Given the description of an element on the screen output the (x, y) to click on. 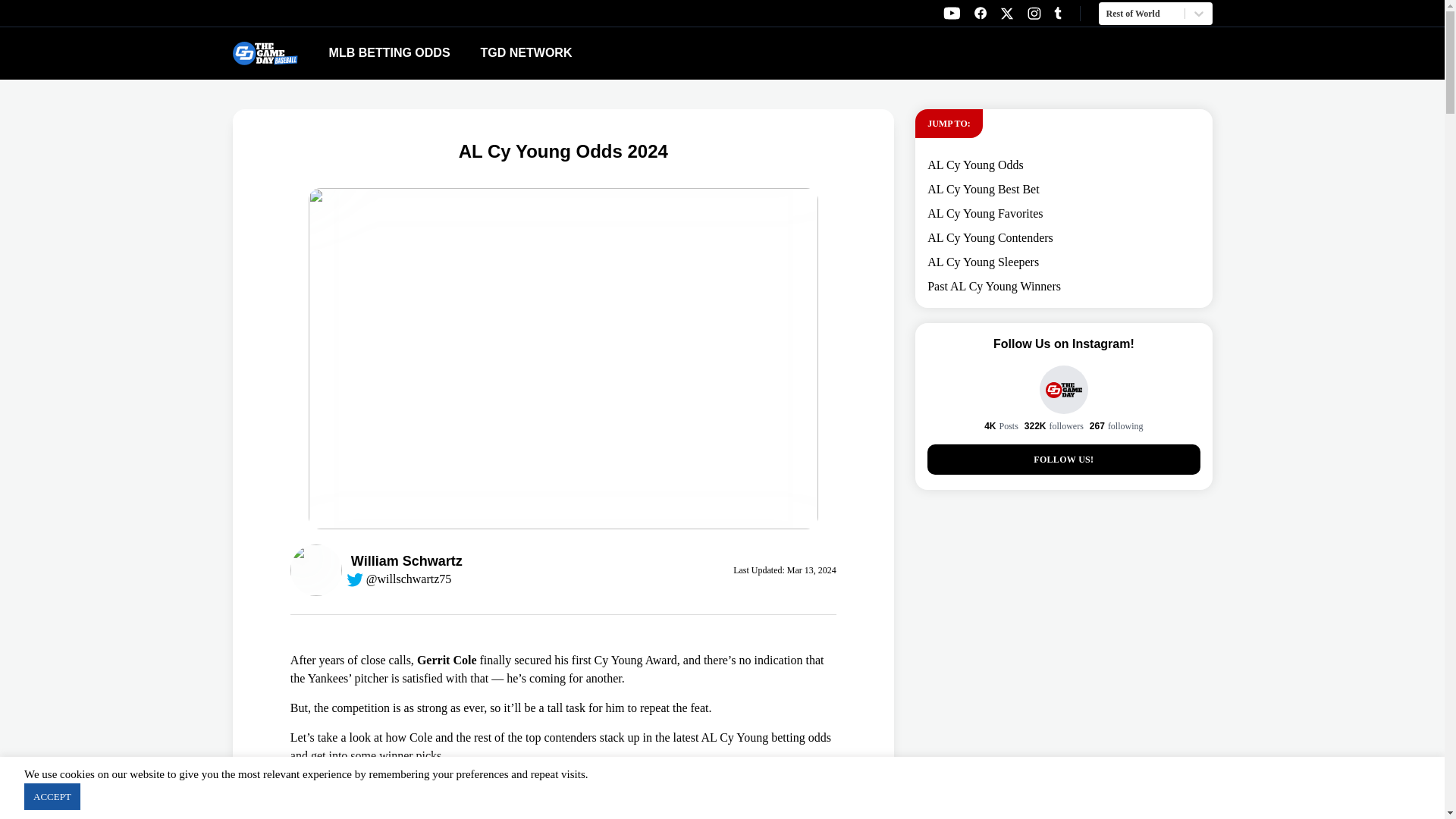
Past AL Cy Young Winners (994, 286)
TGD Facebook Page (980, 12)
TGD Instagram Profile (1034, 12)
TGD X Profile (755, 53)
TGD Youtube Channel (1006, 13)
AL Cy Young Contenders (951, 12)
AL Cy Young Sleepers (989, 237)
AL Cy Young Best Bet (983, 261)
AL Cy Young Odds (983, 188)
